Given the description of an element on the screen output the (x, y) to click on. 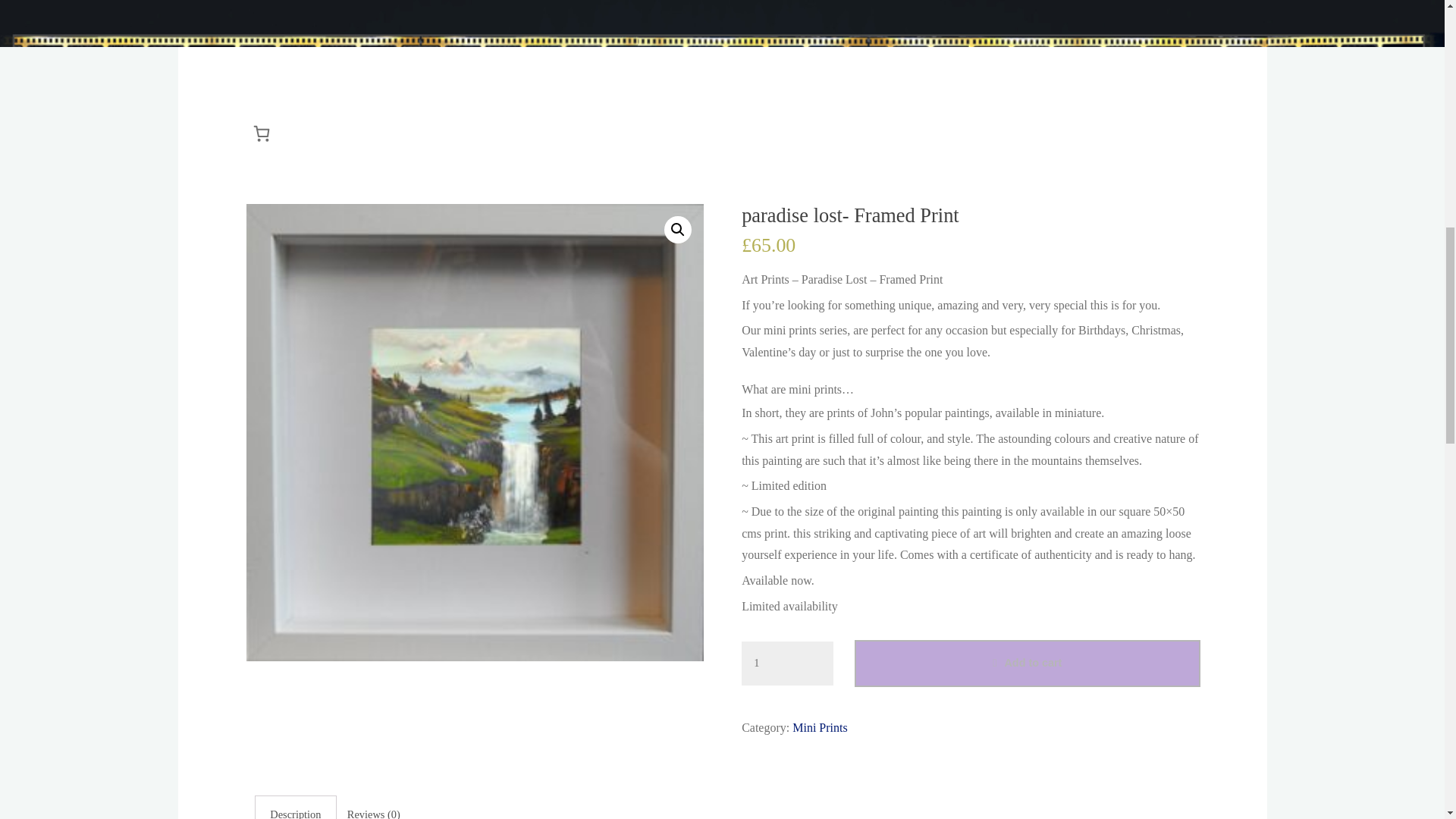
1 (786, 663)
